Given the description of an element on the screen output the (x, y) to click on. 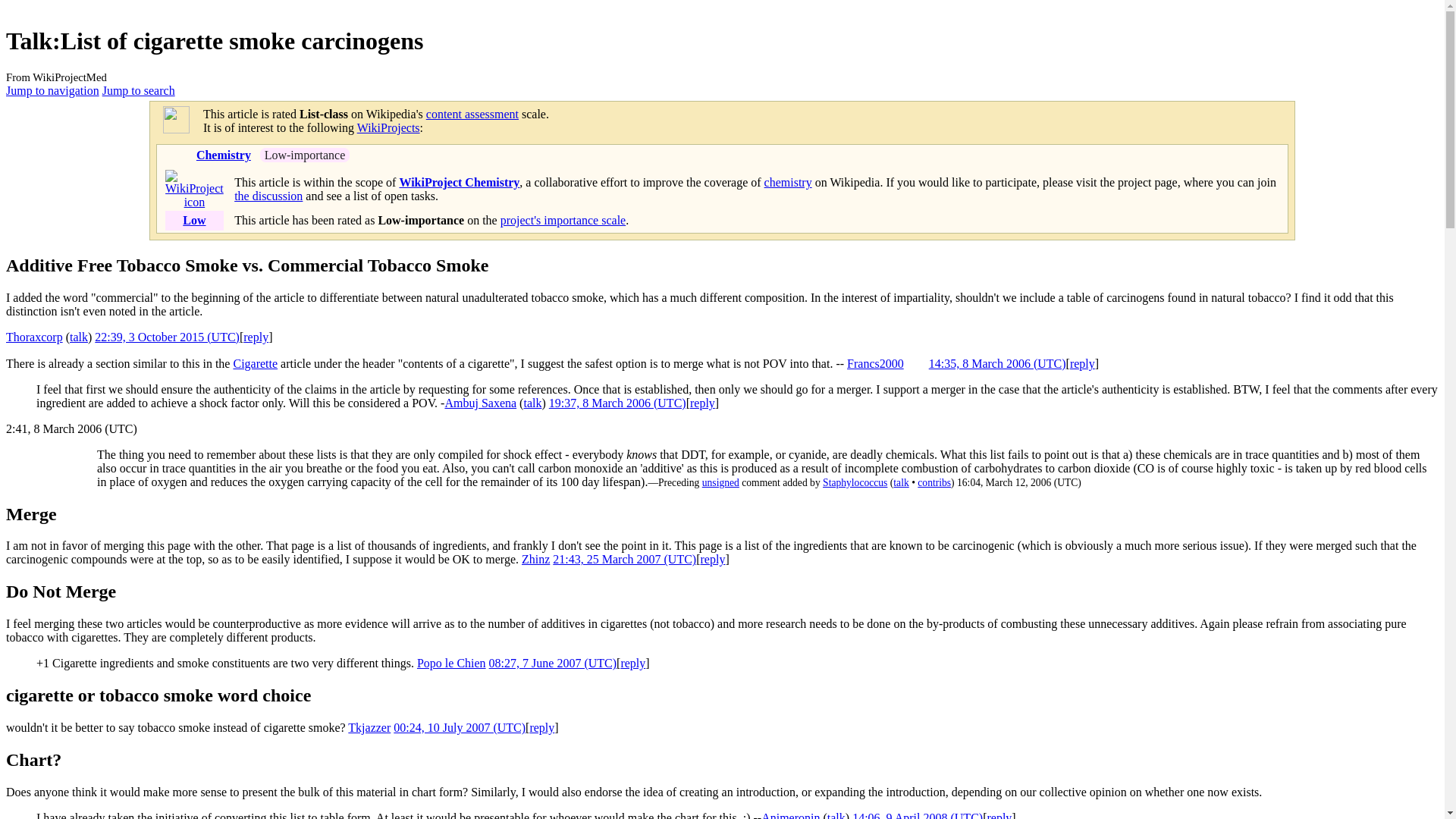
Thoraxcorp (33, 336)
WikiProject Chemistry (458, 182)
reply (632, 662)
User:Ambuj.saxena (480, 402)
User talk:Thoraxcorp (78, 336)
Wikipedia:WikiProject Chemistry (458, 182)
content assessment (472, 113)
contribs (933, 482)
project's importance scale (563, 219)
Cigarette (255, 363)
